Given the description of an element on the screen output the (x, y) to click on. 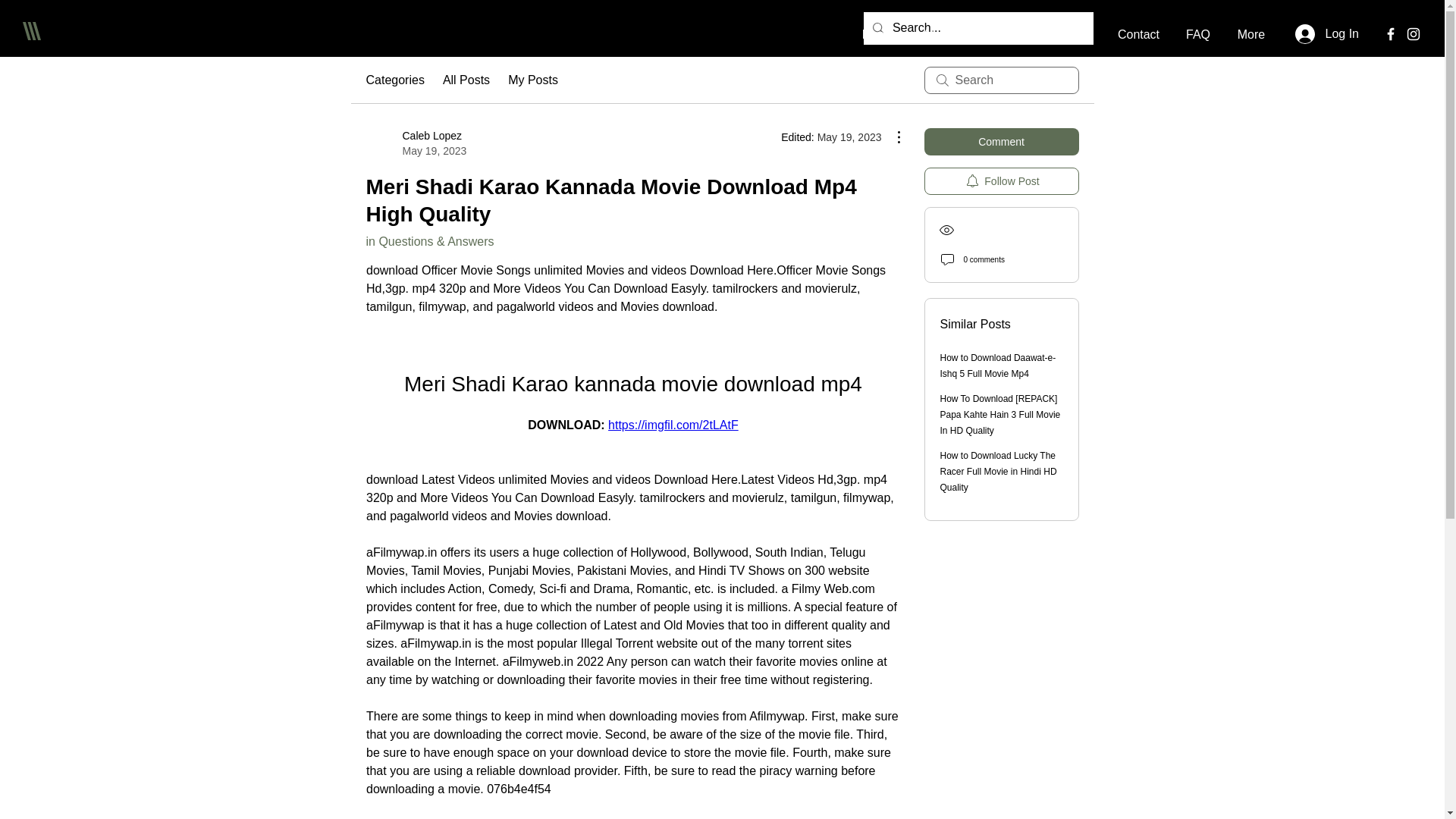
Contact (1138, 33)
About (938, 33)
Categories (394, 80)
Follow Post (1000, 180)
Log In (1327, 33)
Programs (1008, 33)
FAQ (1198, 33)
Staff (1076, 33)
How to Download Daawat-e-Ishq 5 Full Movie Mp4 (998, 365)
Comment (1000, 141)
My Posts (532, 80)
All Posts (465, 80)
Home (877, 33)
